Given the description of an element on the screen output the (x, y) to click on. 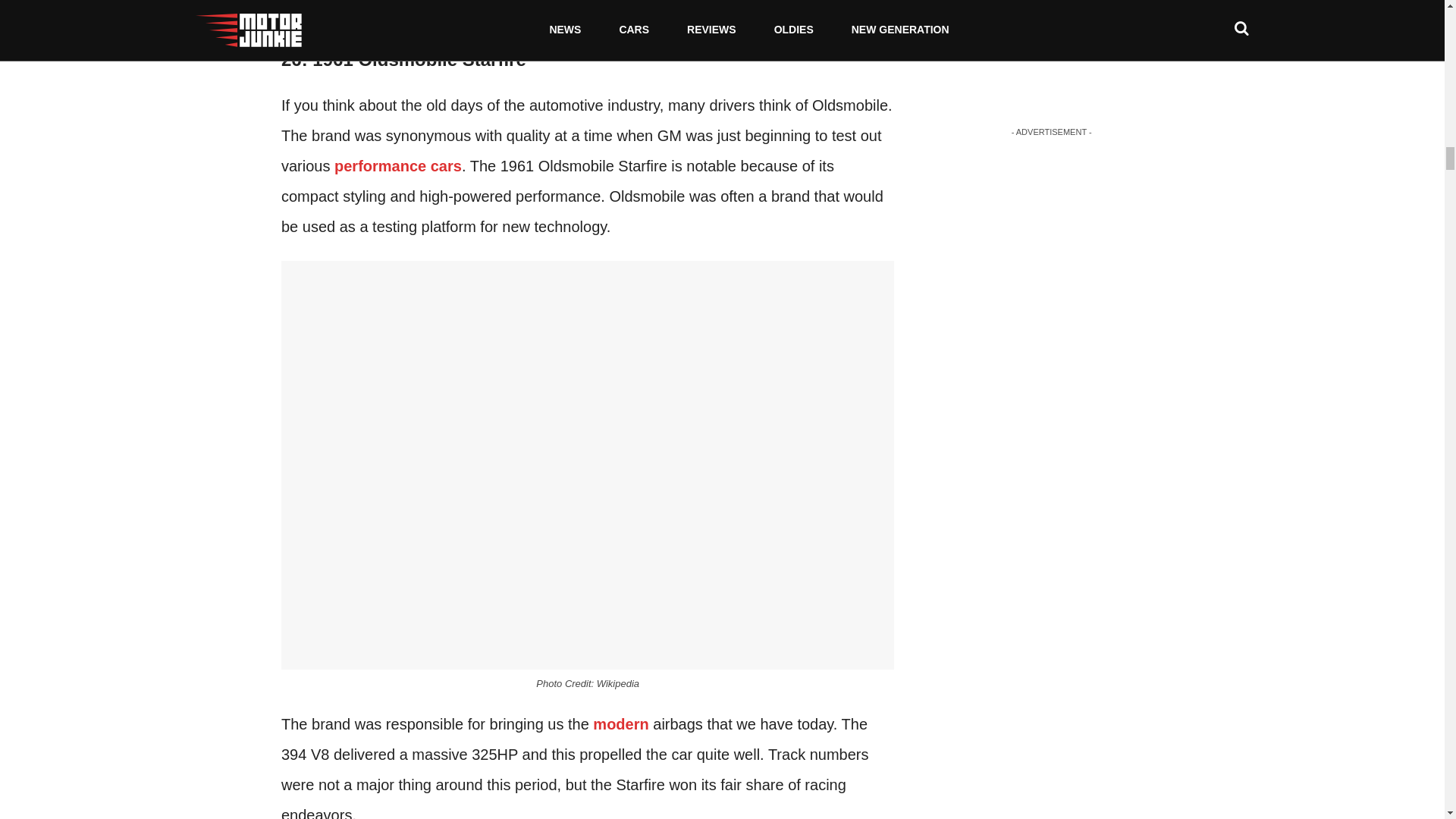
modern (619, 723)
performance cars (397, 166)
